Given the description of an element on the screen output the (x, y) to click on. 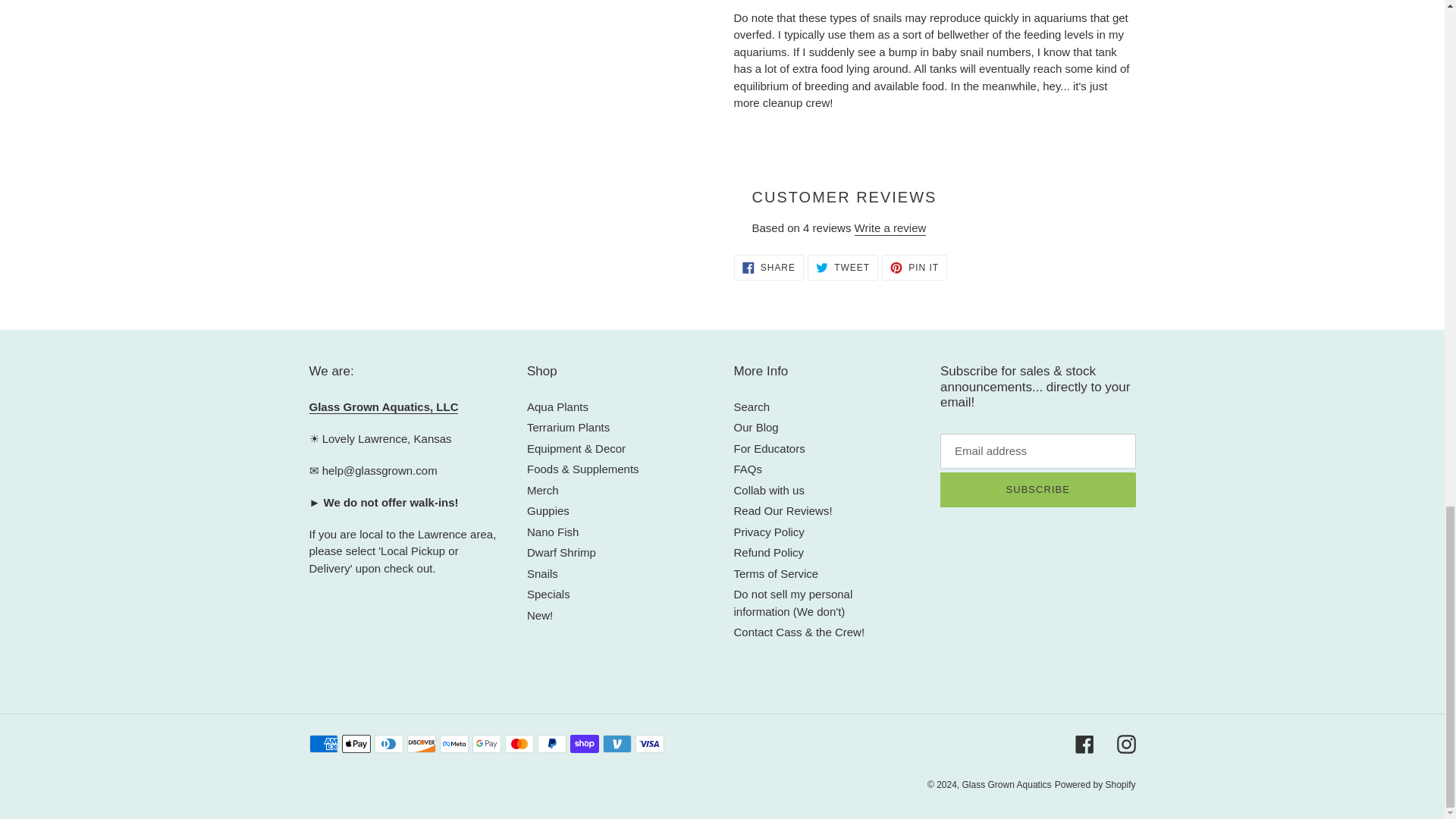
All collections (383, 407)
